Given the description of an element on the screen output the (x, y) to click on. 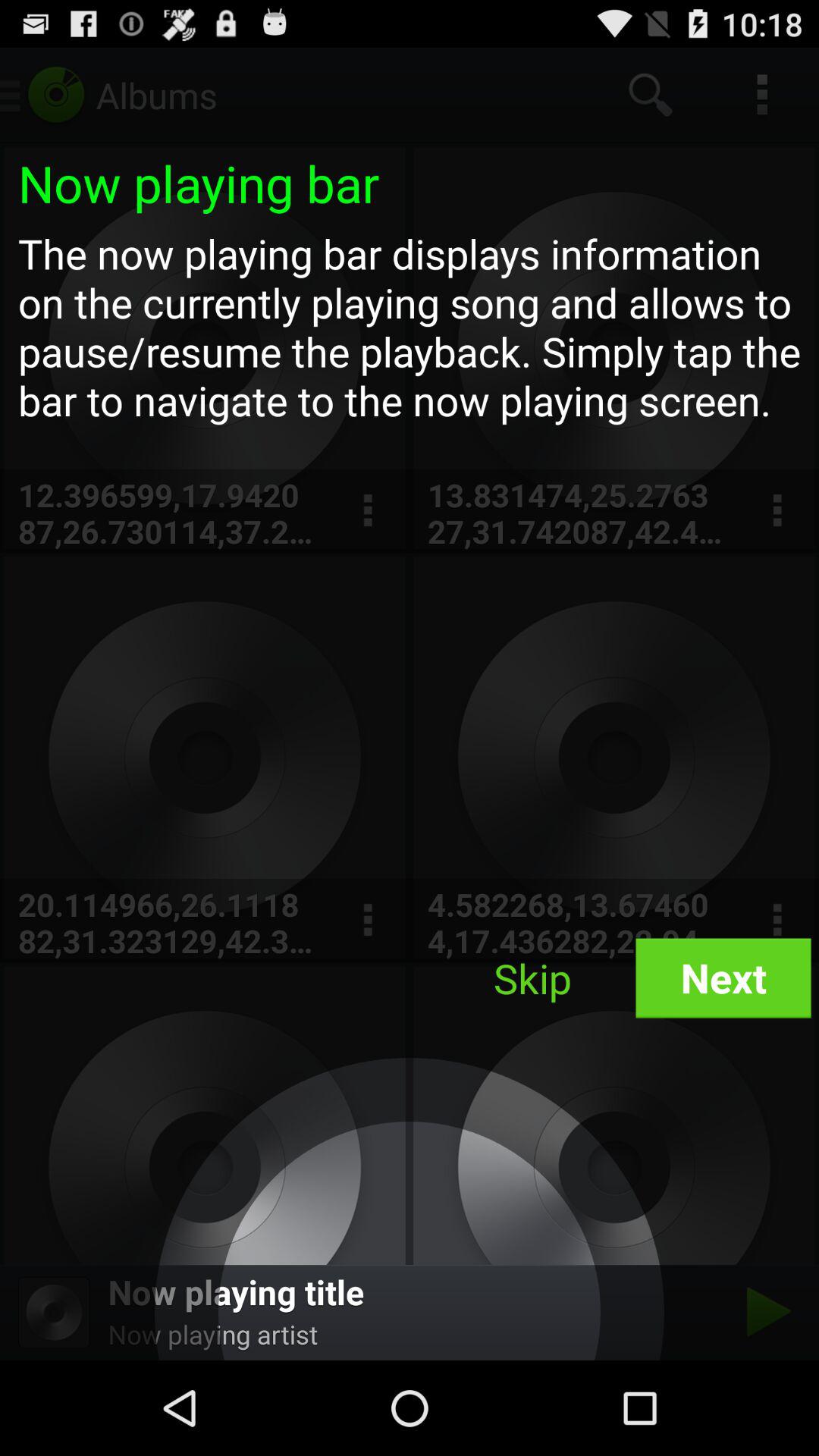
open options for track (367, 510)
